Given the description of an element on the screen output the (x, y) to click on. 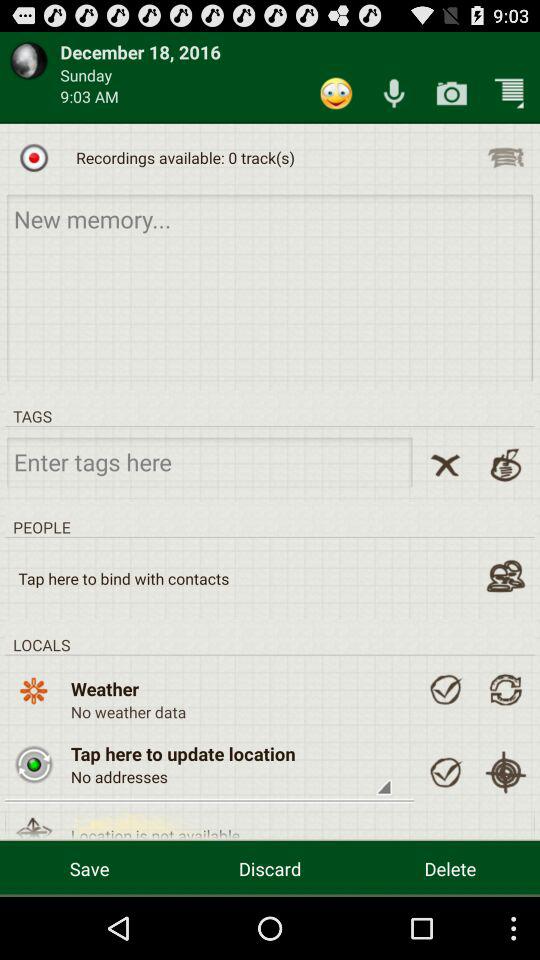
for recording (34, 157)
